Given the description of an element on the screen output the (x, y) to click on. 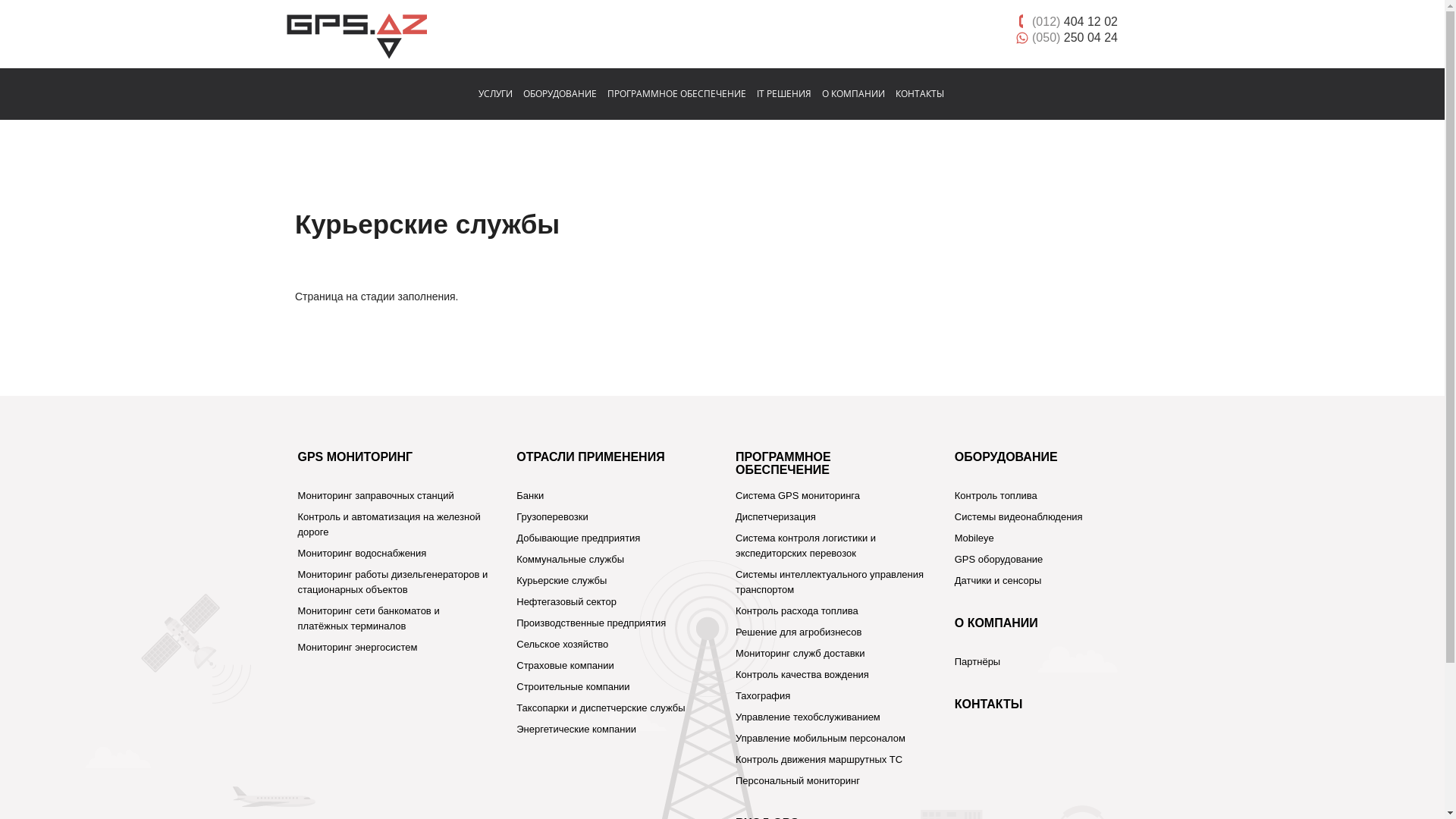
(012) 404 12 02 Element type: text (1074, 21)
Mobileye Element type: text (974, 537)
(050) 250 04 24 Element type: text (1074, 37)
